Given the description of an element on the screen output the (x, y) to click on. 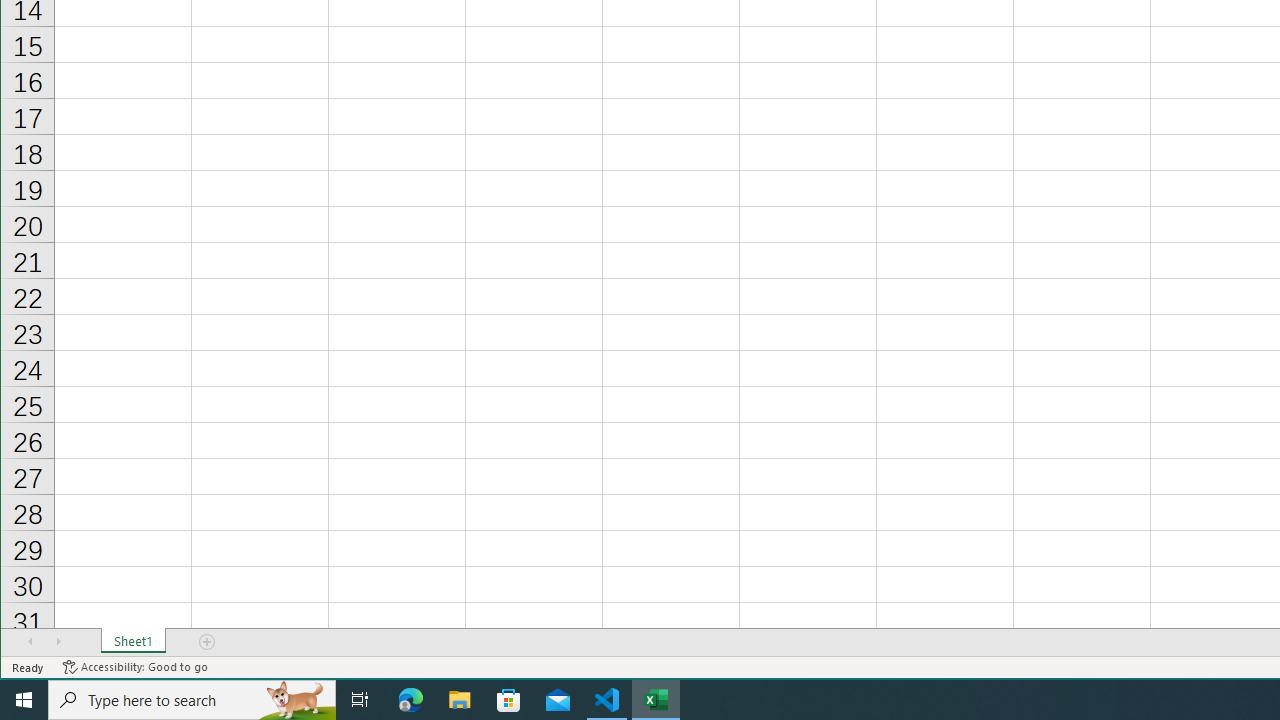
File Explorer (460, 699)
Start (24, 699)
Search highlights icon opens search home window (295, 699)
Task View (359, 699)
Microsoft Edge (411, 699)
Visual Studio Code - 1 running window (607, 699)
Type here to search (191, 699)
Microsoft Store (509, 699)
Excel - 1 running window (656, 699)
